Given the description of an element on the screen output the (x, y) to click on. 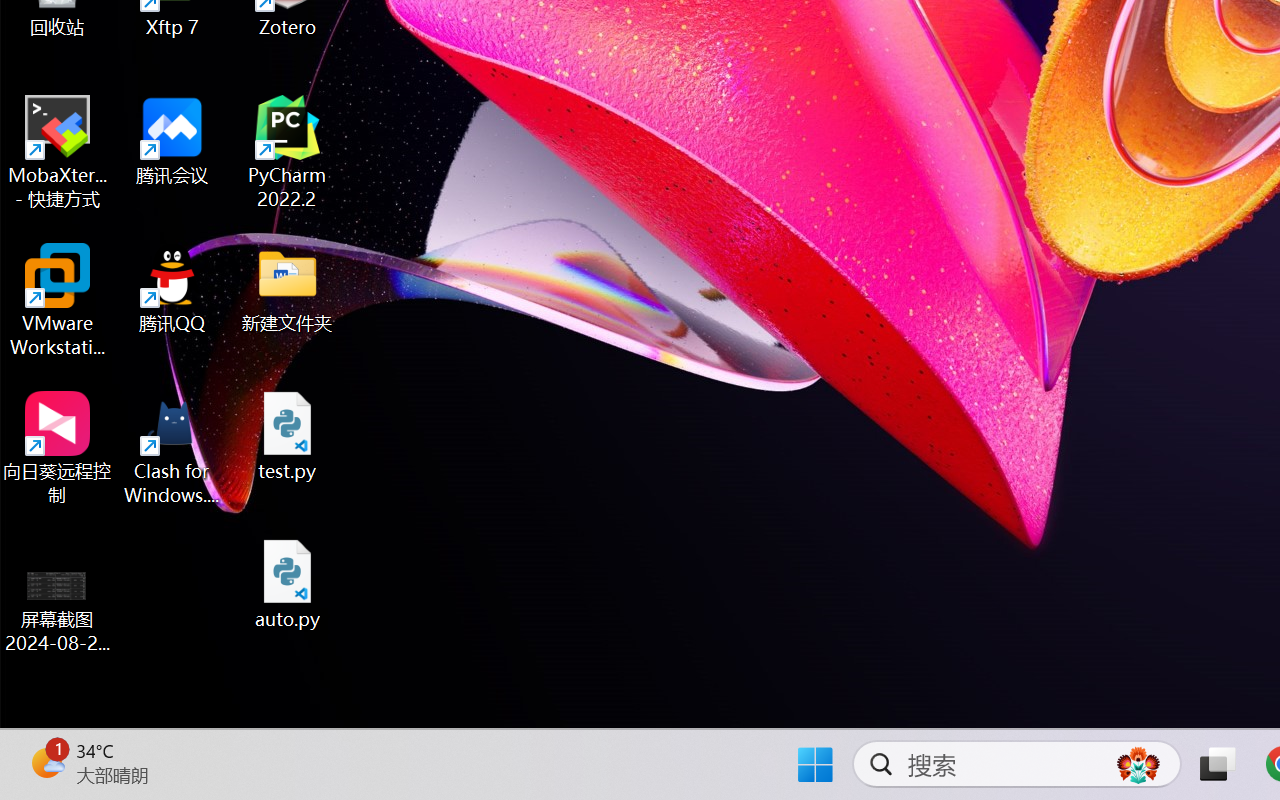
test.py (287, 436)
auto.py (287, 584)
VMware Workstation Pro (57, 300)
